Given the description of an element on the screen output the (x, y) to click on. 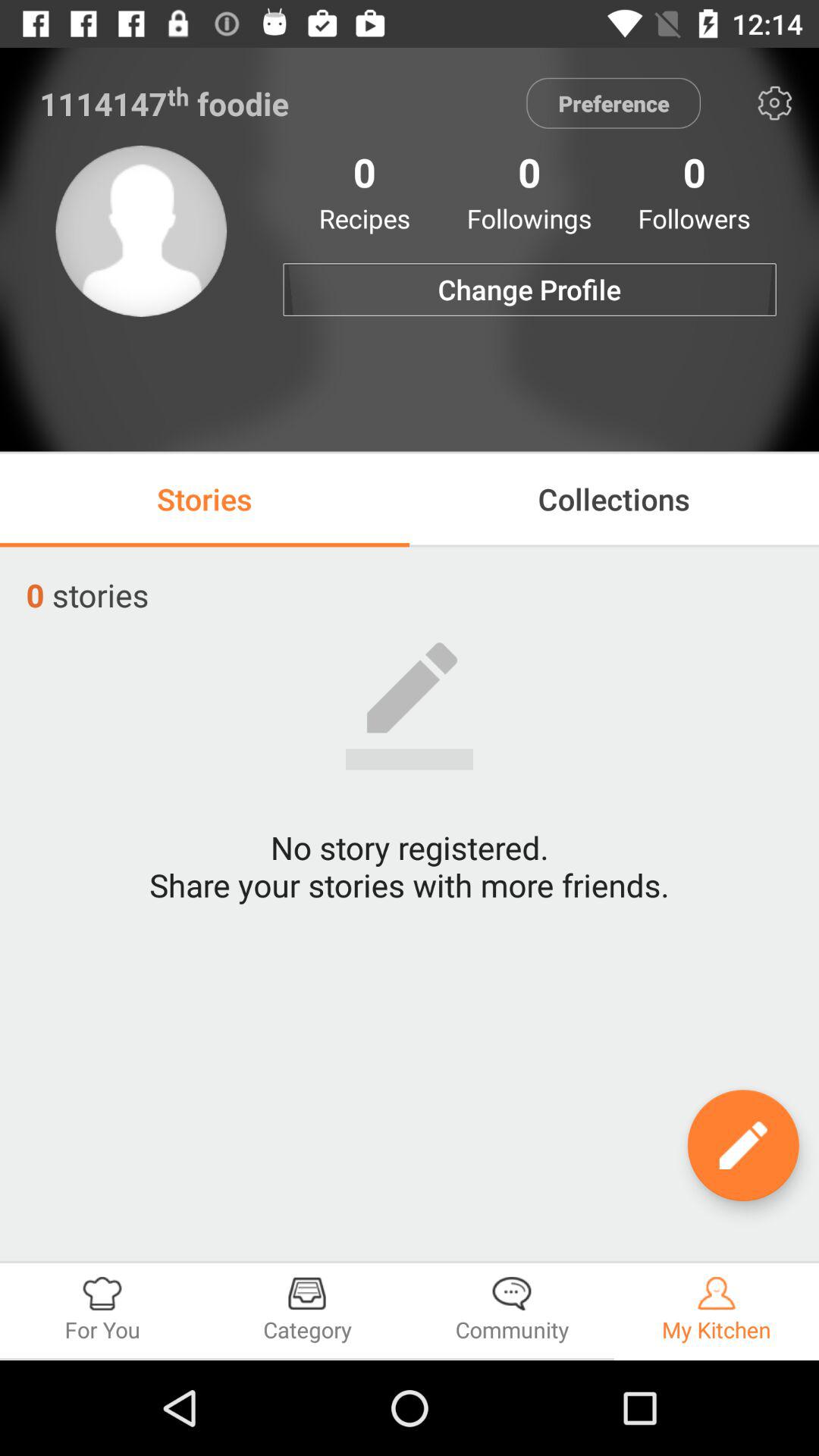
launch the preference icon (613, 103)
